Given the description of an element on the screen output the (x, y) to click on. 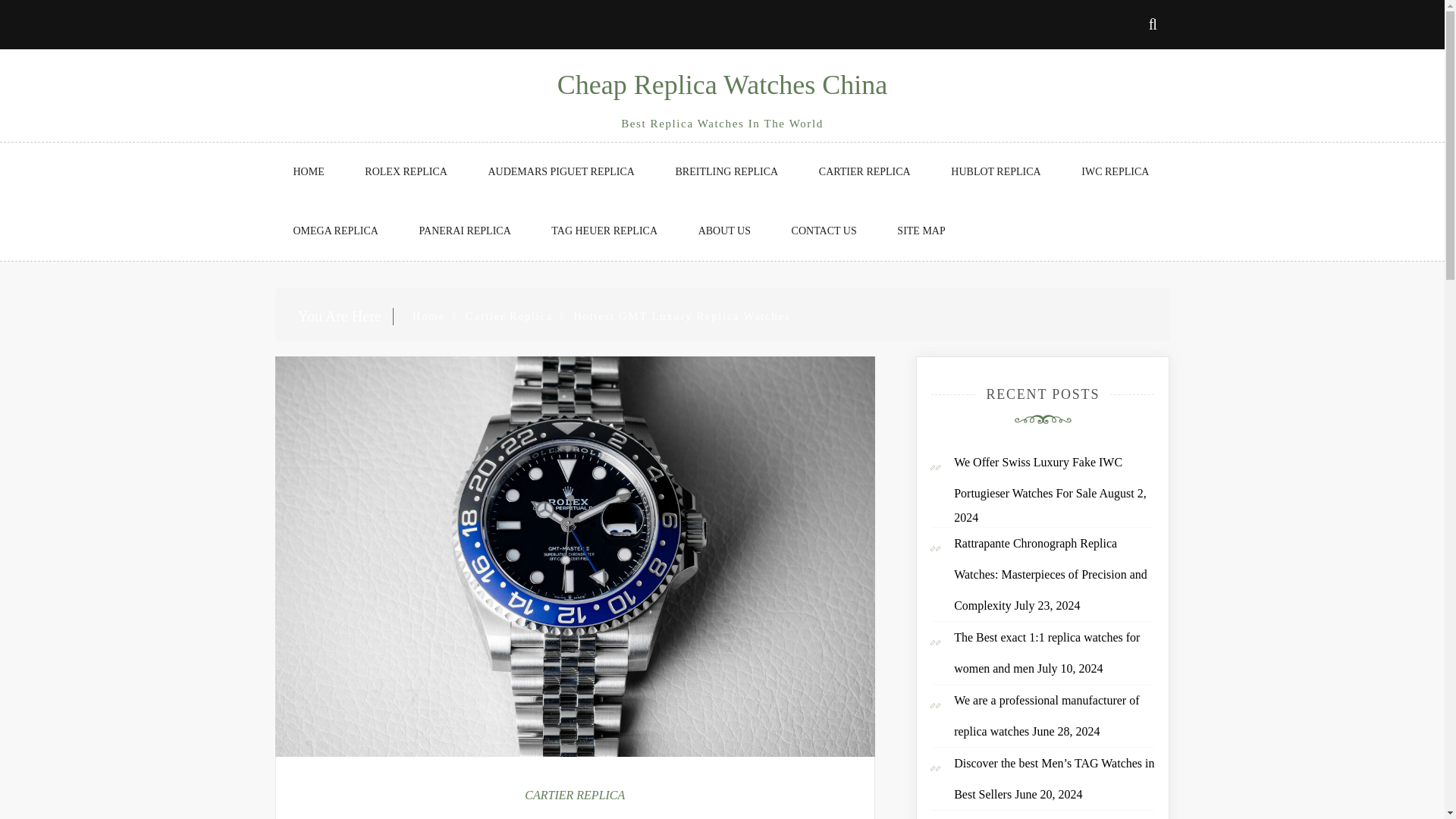
Cartier Replica (509, 316)
CARTIER REPLICA (864, 171)
AUDEMARS PIGUET REPLICA (560, 171)
PANERAI REPLICA (465, 231)
We are a professional manufacturer of replica watches (1045, 715)
BREITLING REPLICA (726, 171)
HUBLOT REPLICA (995, 171)
HOME (308, 171)
CARTIER REPLICA (574, 794)
SITE MAP (920, 231)
